Given the description of an element on the screen output the (x, y) to click on. 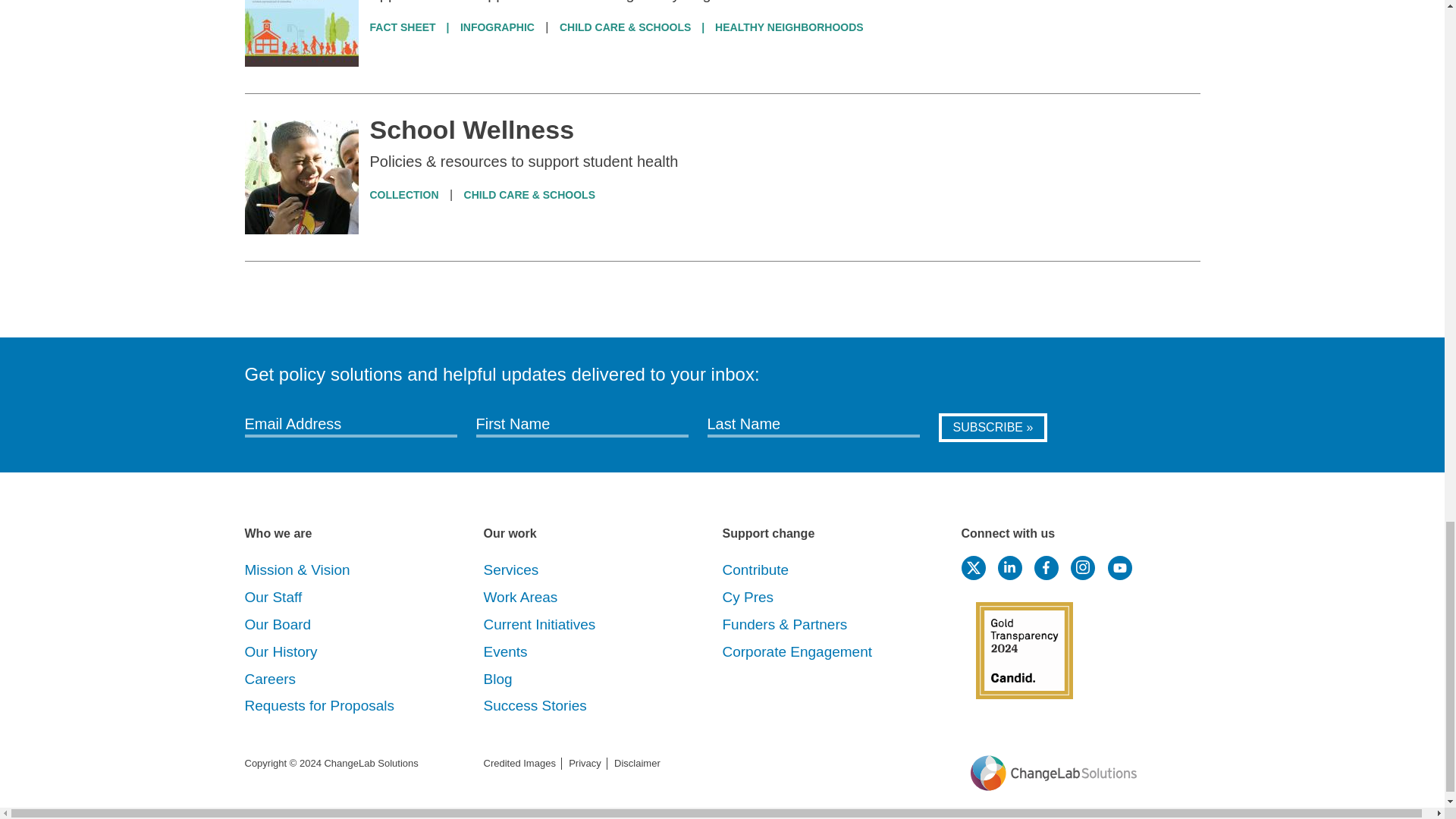
Work Areas (520, 596)
Success Stories (534, 705)
Twitter (972, 567)
Meet our Board (277, 624)
Our Board (277, 624)
Meet our staff (272, 596)
Our areas of work (539, 624)
Blog (497, 678)
Careers (269, 678)
Requests for Proposals (319, 705)
Services (510, 569)
Our History (280, 651)
School Wellness (472, 129)
Contribute (755, 569)
Career opportunities at ChangeLab Solutions (269, 678)
